Given the description of an element on the screen output the (x, y) to click on. 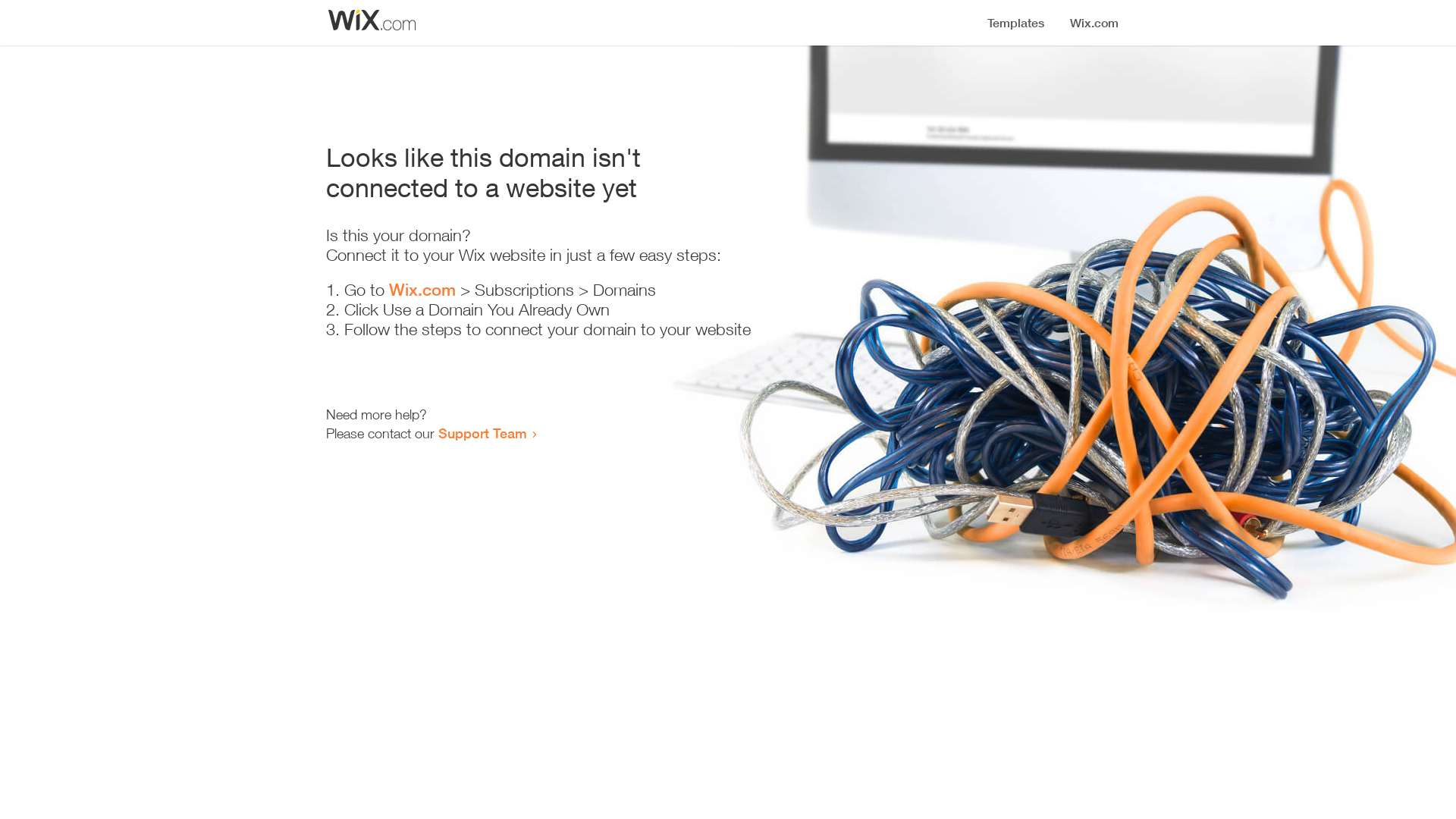
Support Team Element type: text (482, 432)
Wix.com Element type: text (422, 289)
